Given the description of an element on the screen output the (x, y) to click on. 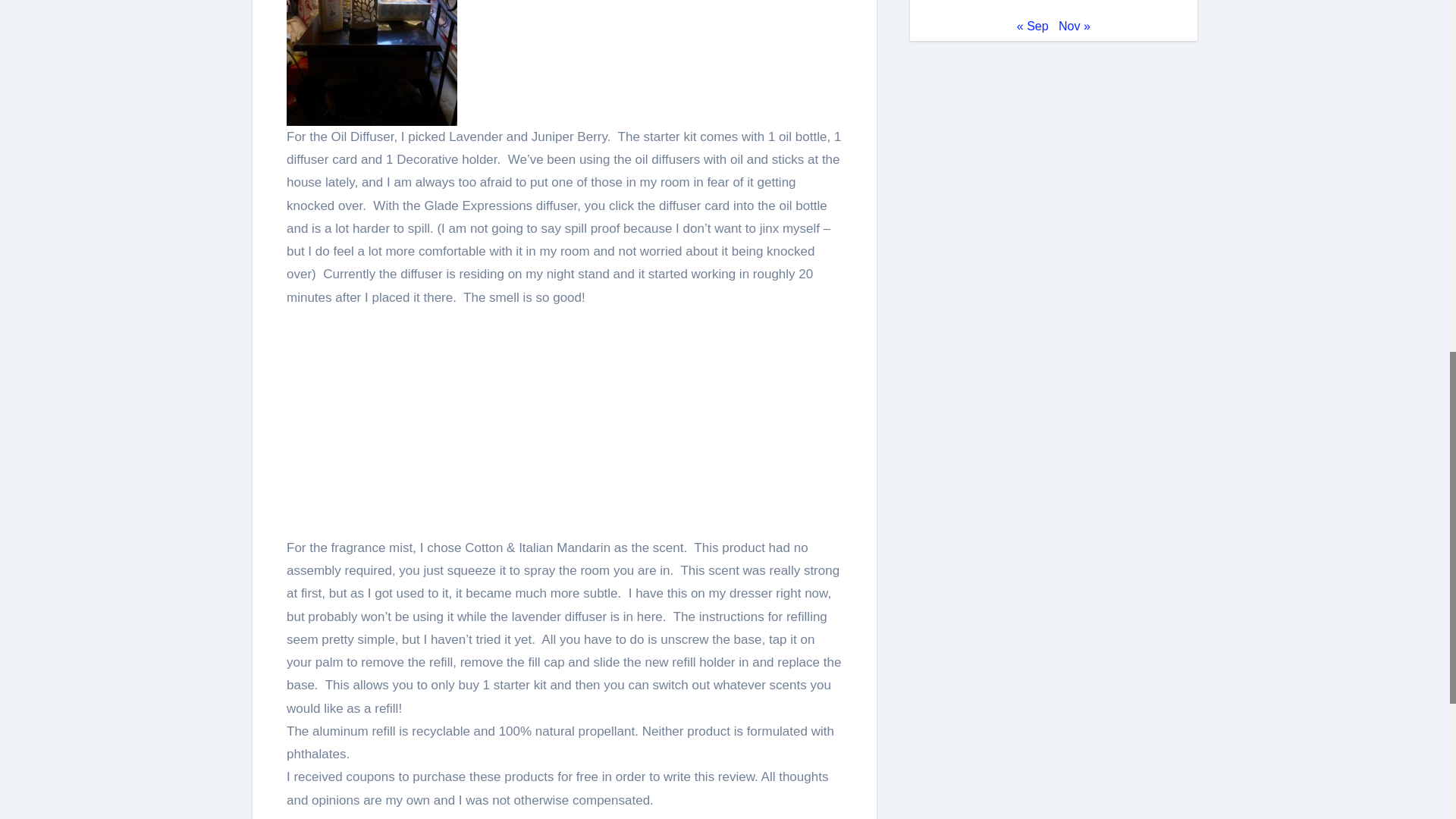
Diffuser (371, 63)
